Given the description of an element on the screen output the (x, y) to click on. 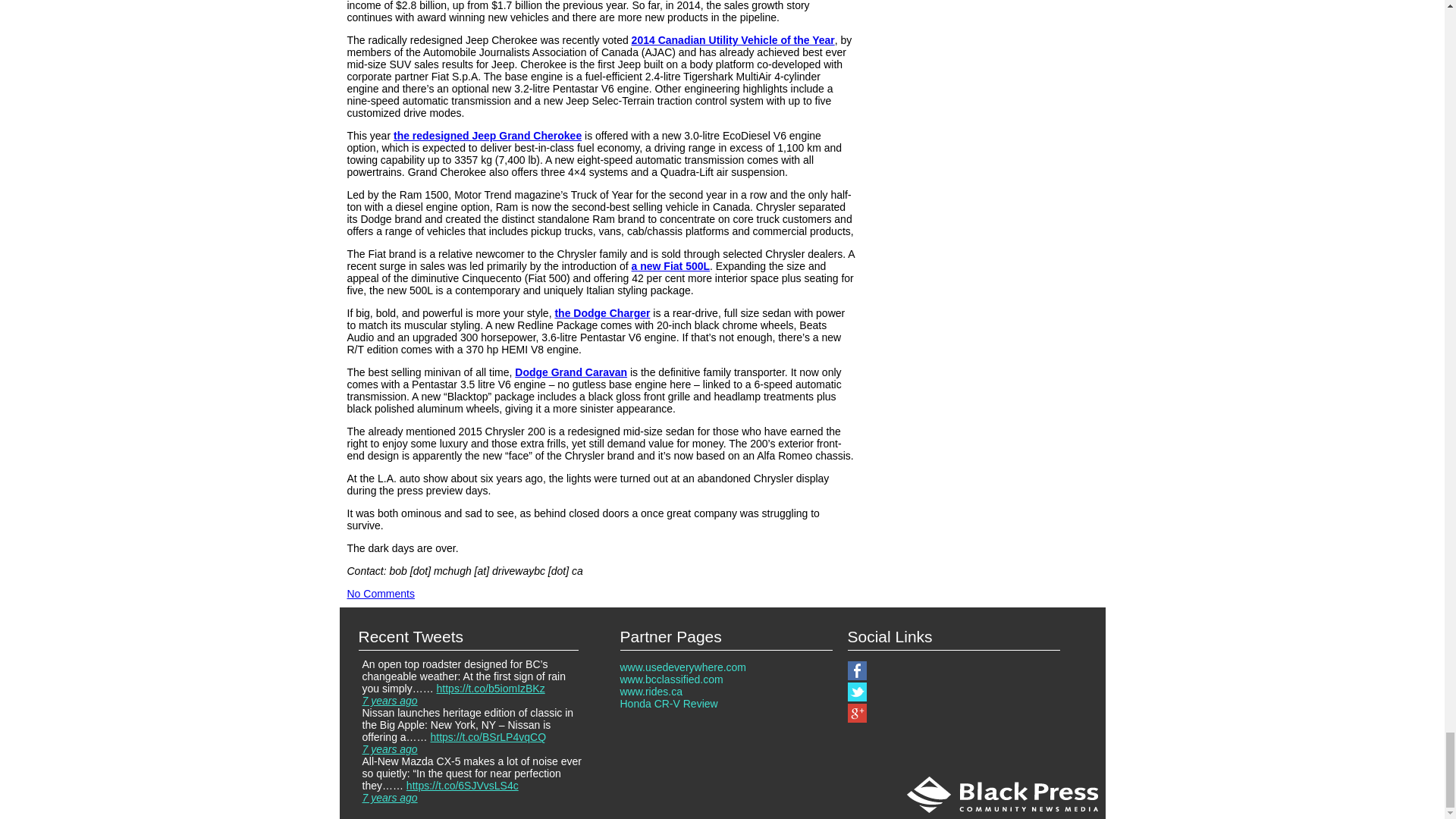
Jeep Cherokee wins 2014 Car of the Year (732, 39)
2015 Jeep Grand Cherokee (486, 135)
